Given the description of an element on the screen output the (x, y) to click on. 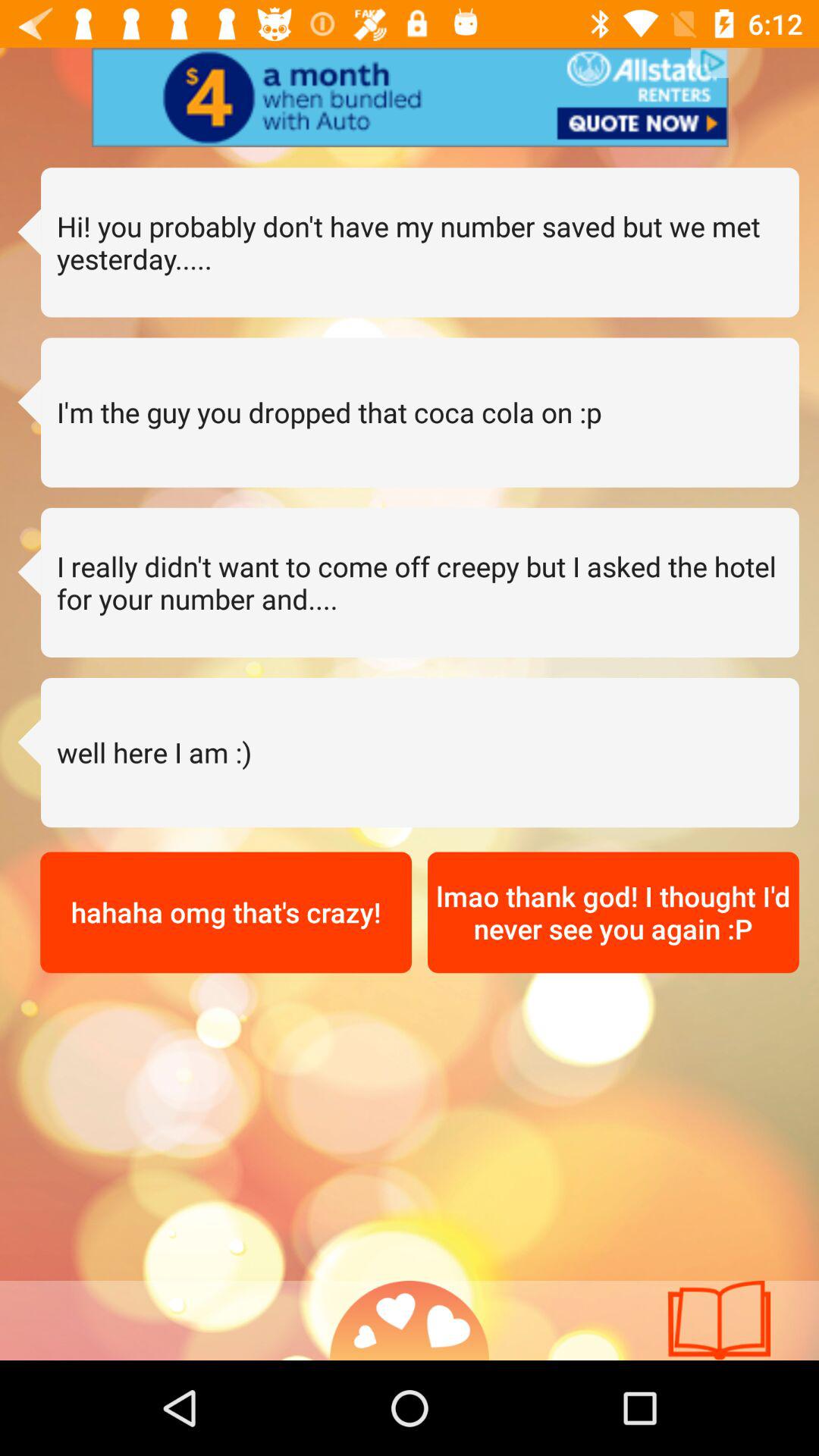
view advertisement (409, 97)
